Given the description of an element on the screen output the (x, y) to click on. 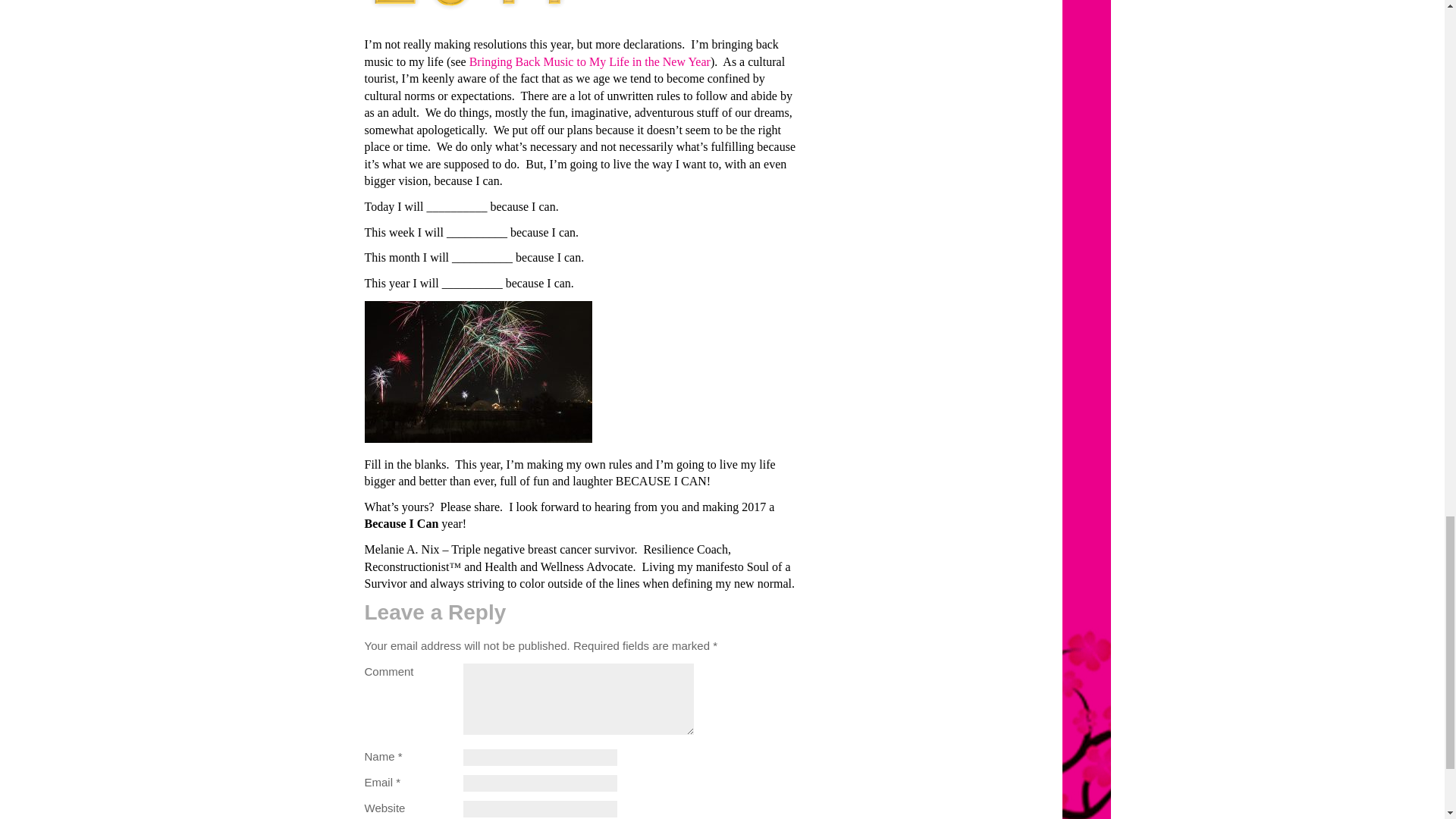
Bringing Back Music to My Life in the New Year (589, 61)
